Given the description of an element on the screen output the (x, y) to click on. 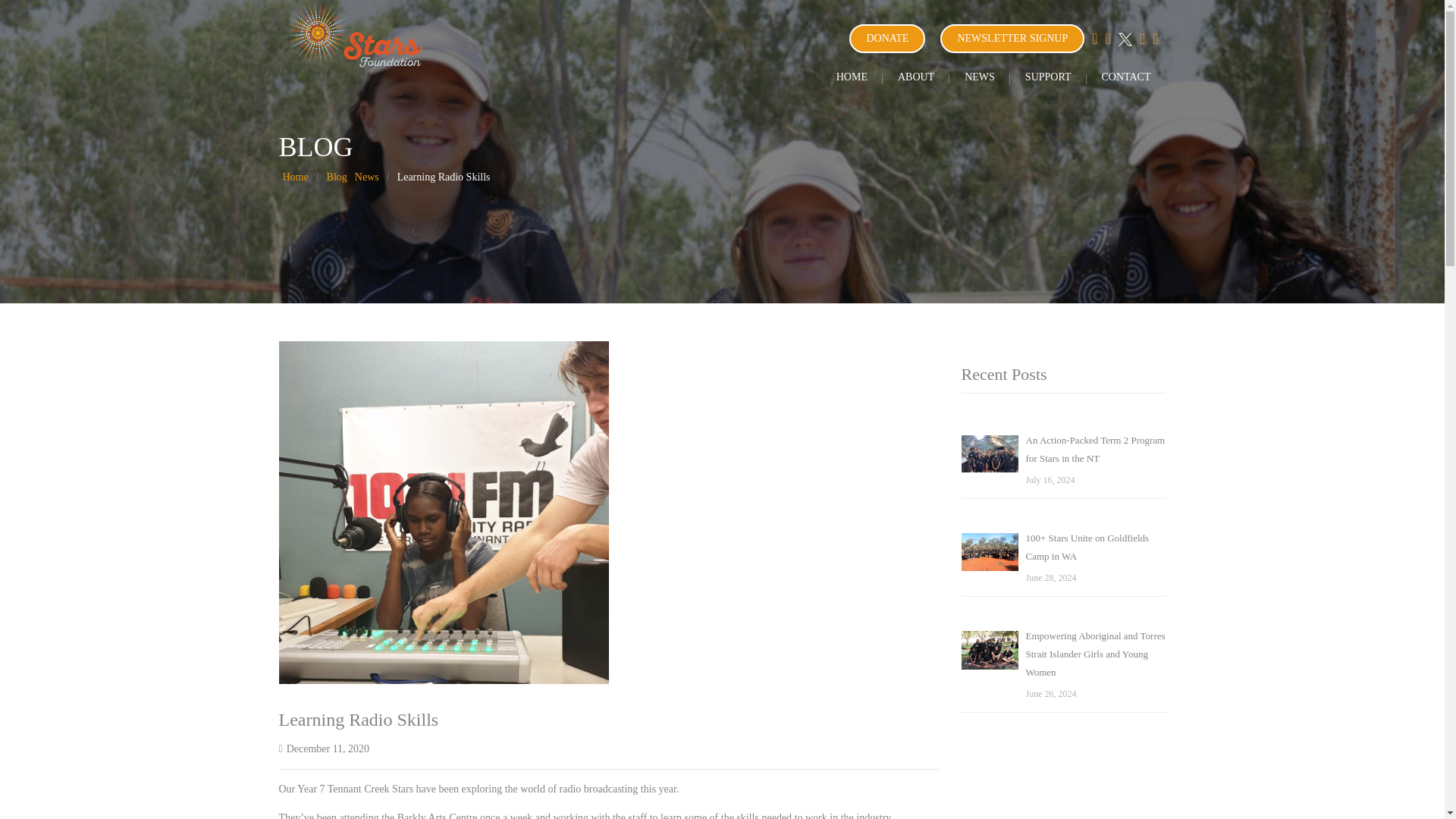
DONATE (886, 38)
ABOUT (915, 76)
X (1125, 38)
Stars Foundation (354, 33)
NEWSLETTER SIGNUP (1012, 38)
HOME (851, 76)
